Given the description of an element on the screen output the (x, y) to click on. 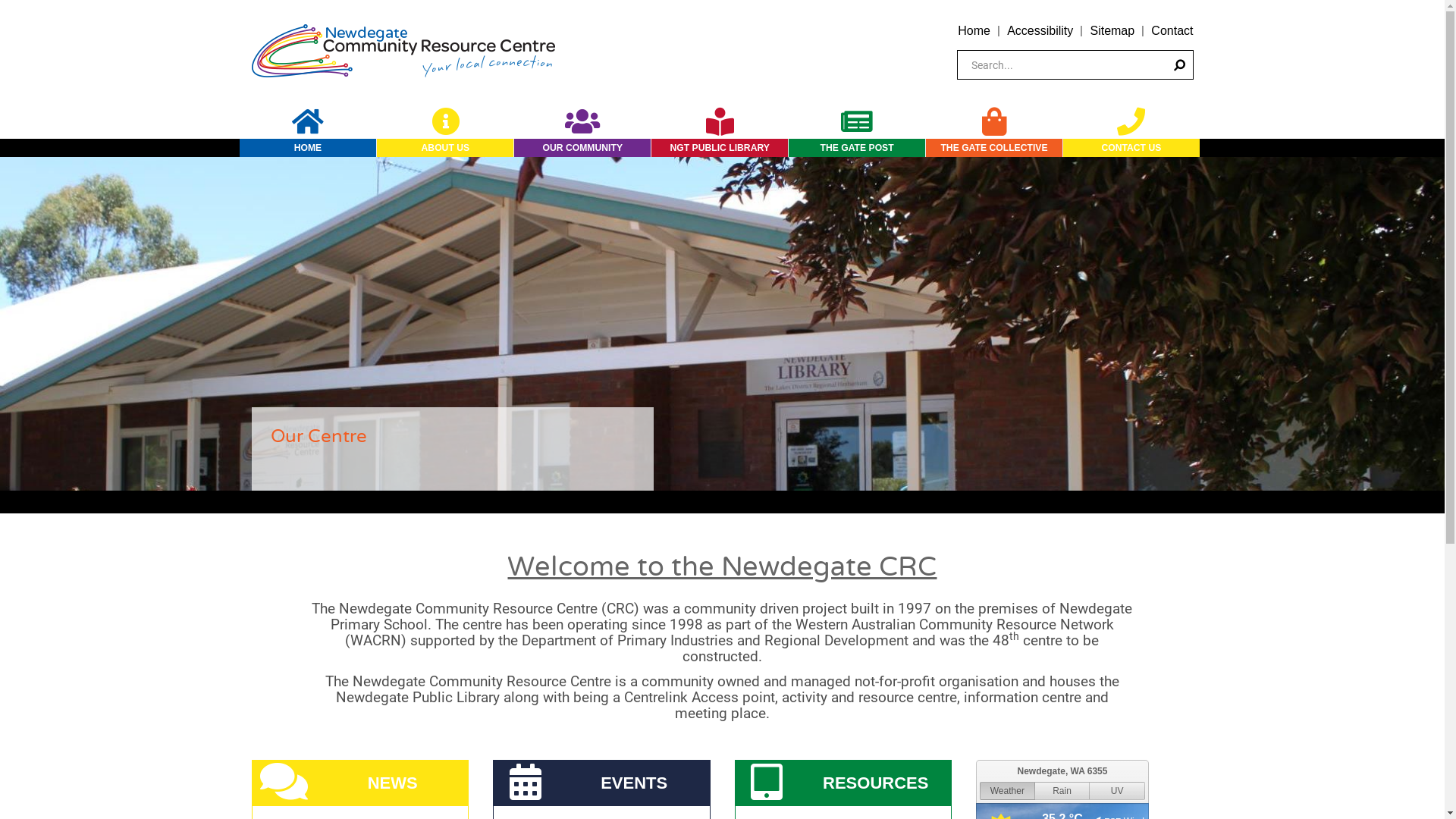
Sitemap Element type: text (1111, 30)
THE GATE COLLECTIVE Element type: text (993, 147)
Search the Website Element type: hover (1074, 64)
OUR COMMUNITY Element type: text (582, 147)
Home Element type: text (973, 30)
CONTACT US Element type: text (1131, 147)
Search Element type: hover (1177, 64)
Accessibility Element type: text (1040, 30)
NGT PUBLIC LIBRARY Element type: text (719, 147)
THE GATE POST Element type: text (856, 147)
ABOUT US Element type: text (444, 147)
HOME Element type: text (307, 147)
Contact Element type: text (1171, 30)
Newdegate Community Resource Centre home page Element type: hover (403, 49)
